Given the description of an element on the screen output the (x, y) to click on. 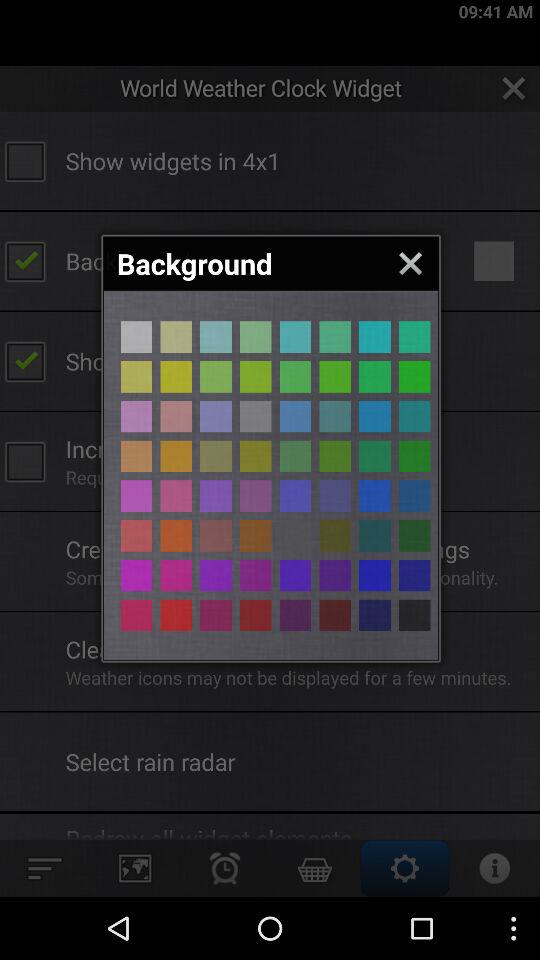
select background color (215, 376)
